Given the description of an element on the screen output the (x, y) to click on. 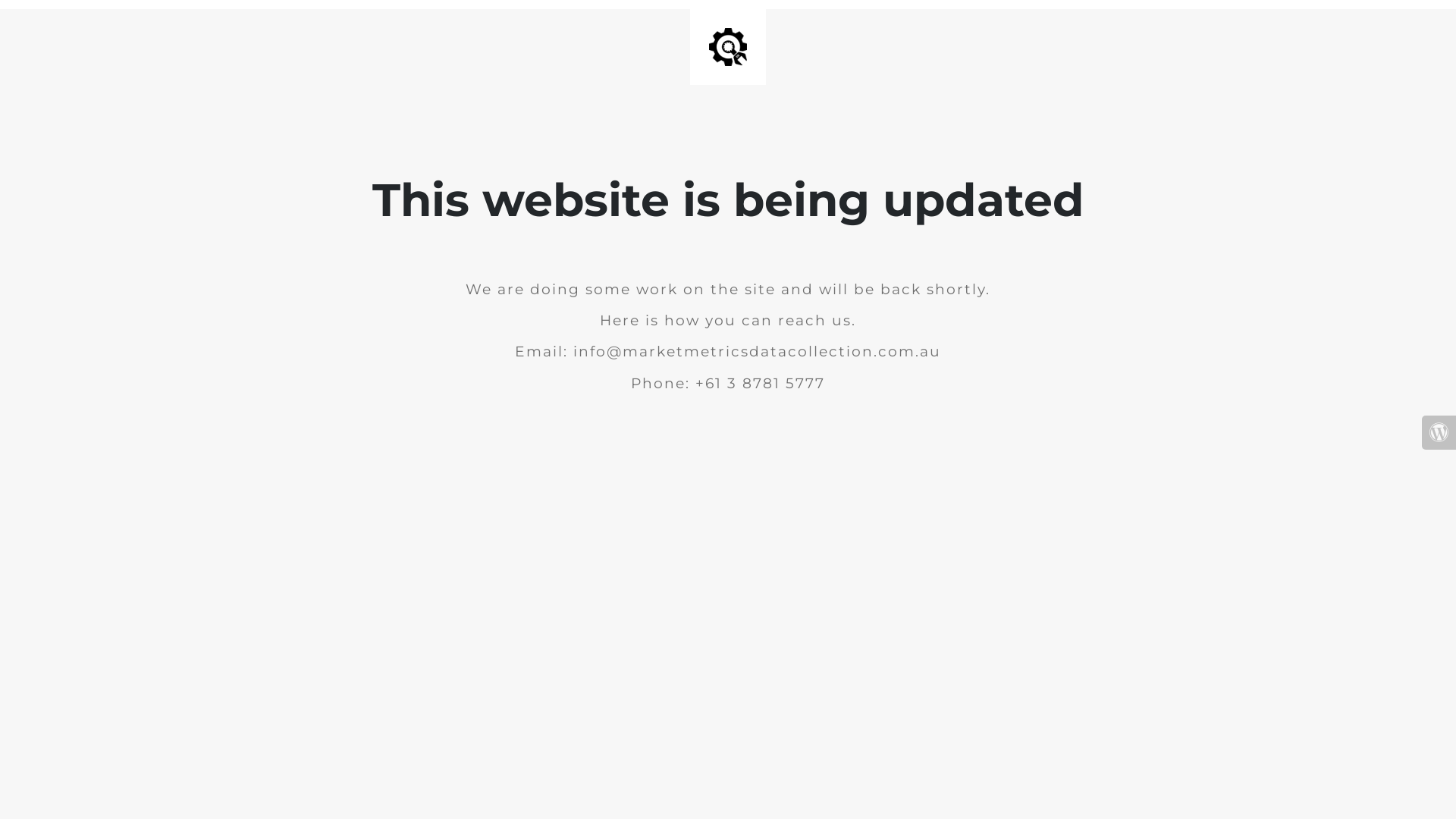
Site is Under Construction Element type: hover (727, 46)
